Given the description of an element on the screen output the (x, y) to click on. 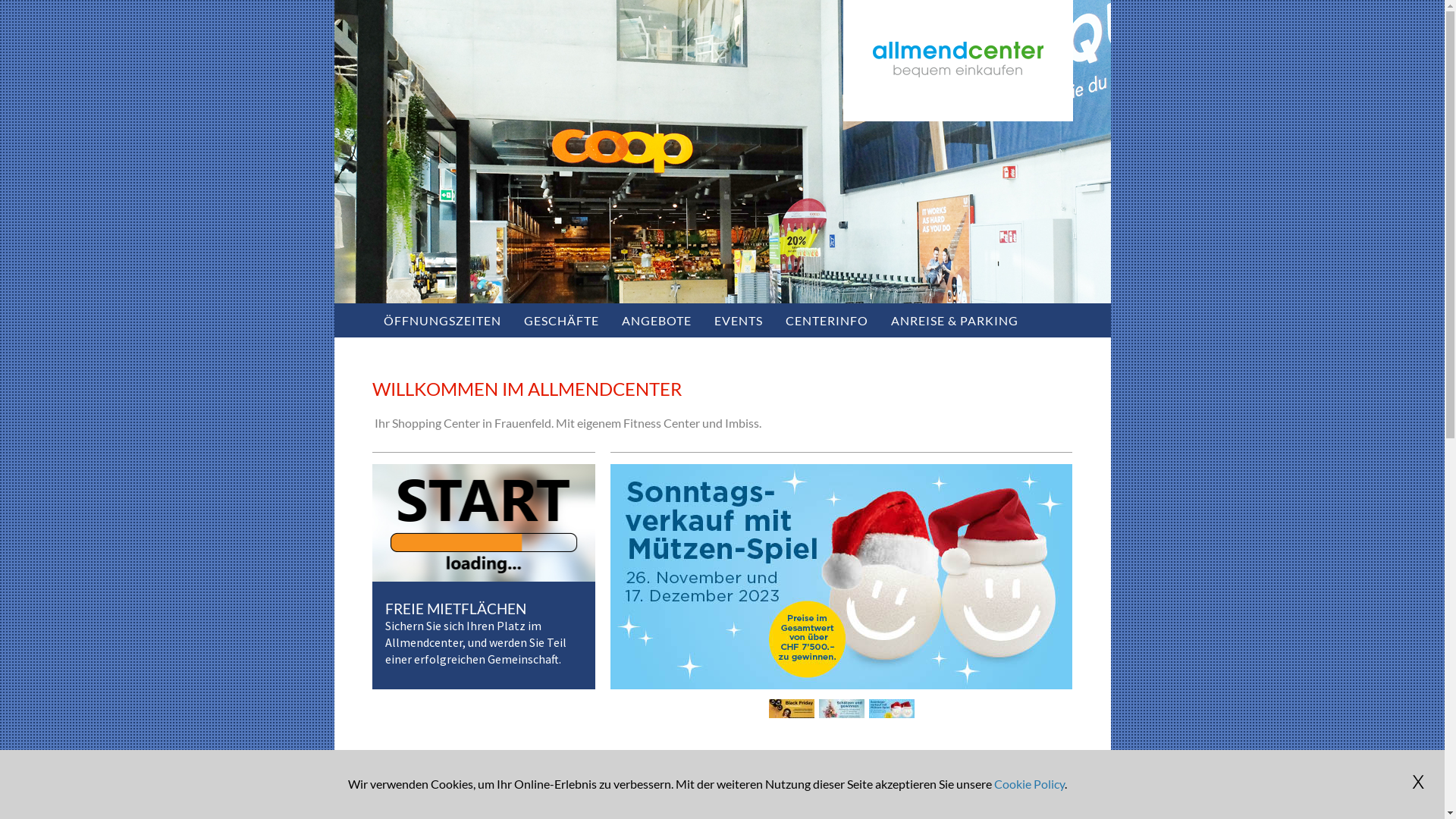
CENTERINFO Element type: text (825, 320)
ANGEBOTE Element type: text (655, 320)
Cookie Policy Element type: text (1028, 783)
EVENTS Element type: text (737, 320)
ANREISE & PARKING Element type: text (954, 320)
